Given the description of an element on the screen output the (x, y) to click on. 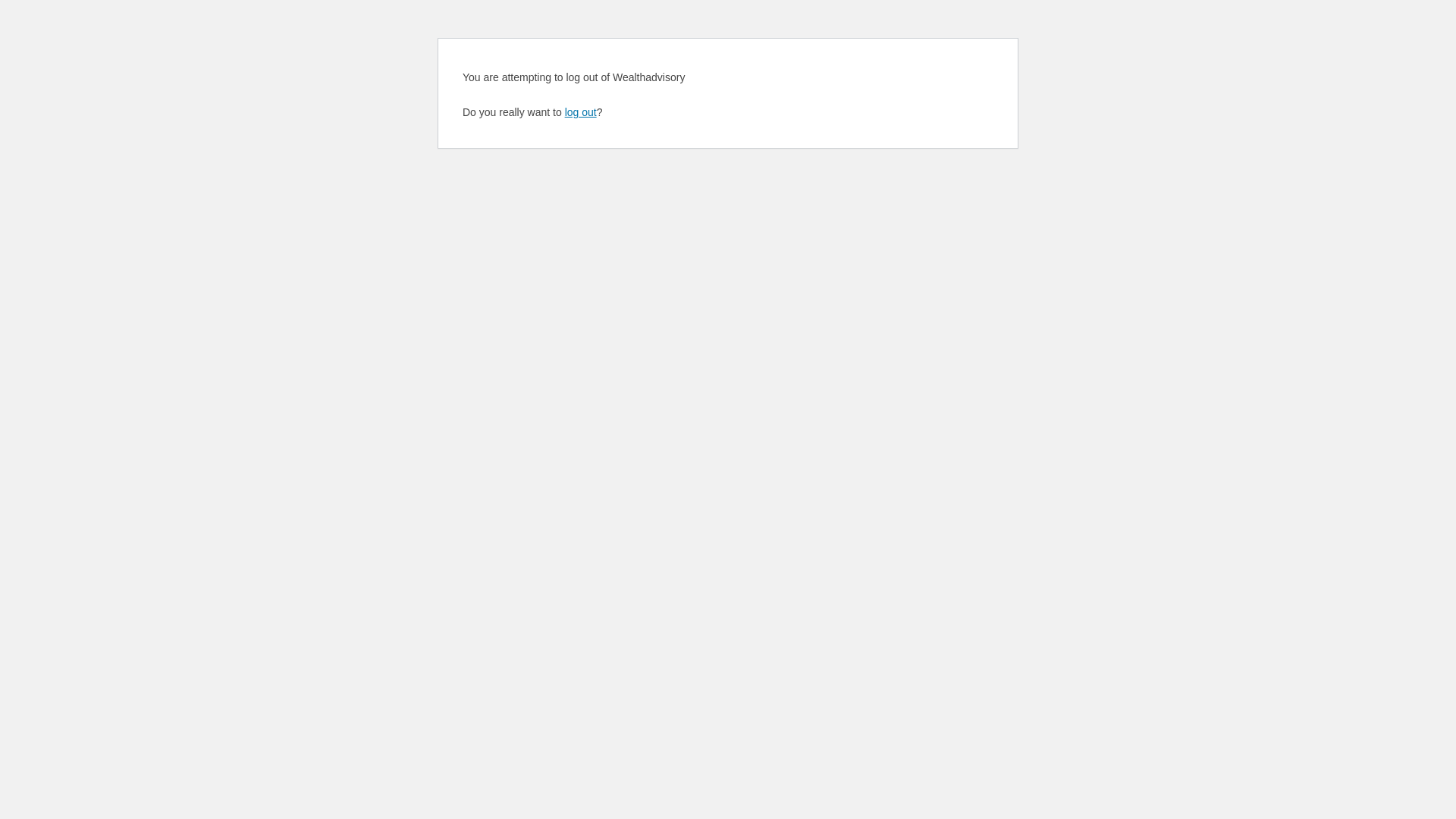
log out Element type: text (580, 112)
